Given the description of an element on the screen output the (x, y) to click on. 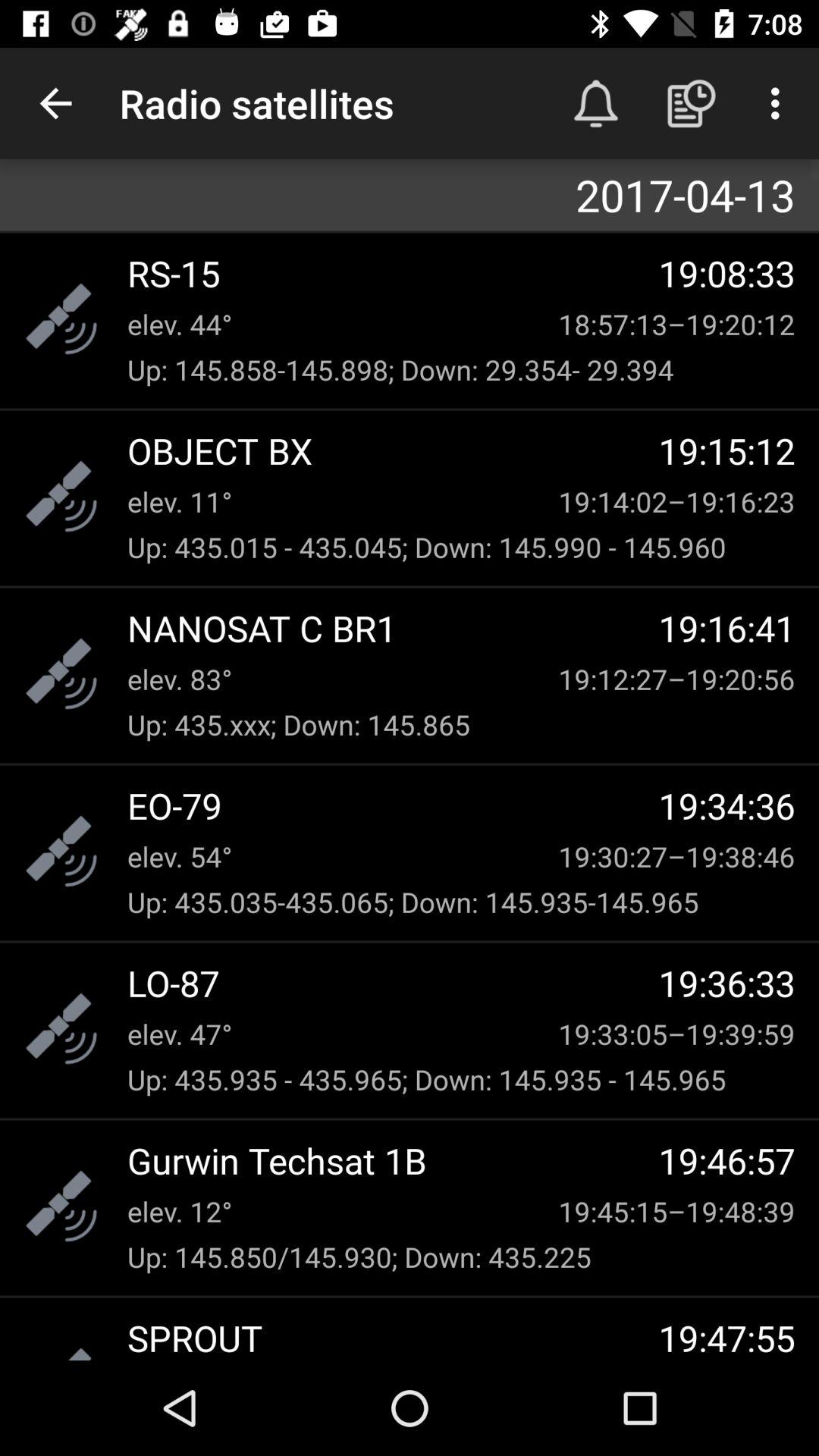
turn off the item to the left of 19:08:33 item (392, 273)
